Given the description of an element on the screen output the (x, y) to click on. 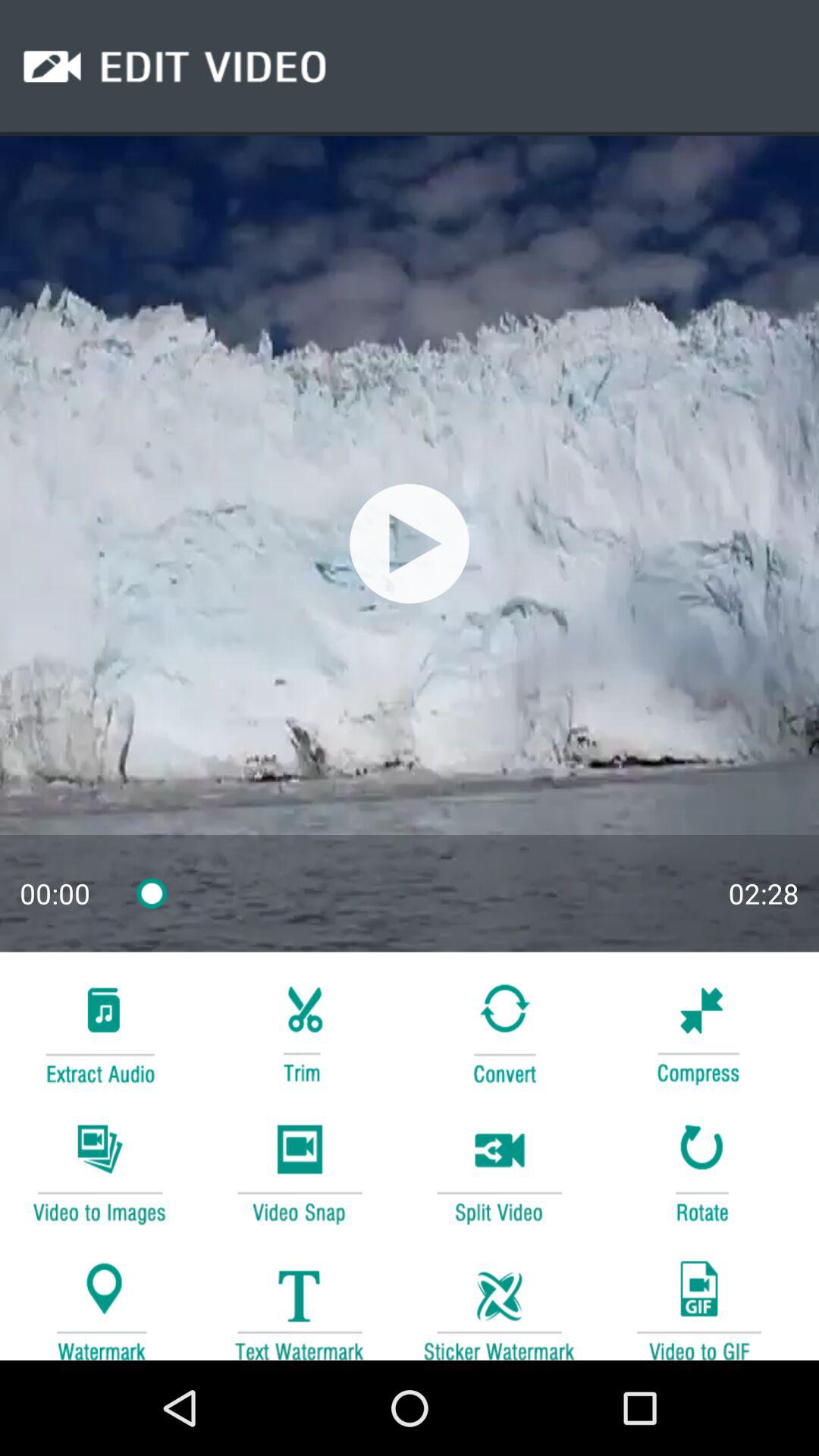
take video snap (299, 1171)
